Given the description of an element on the screen output the (x, y) to click on. 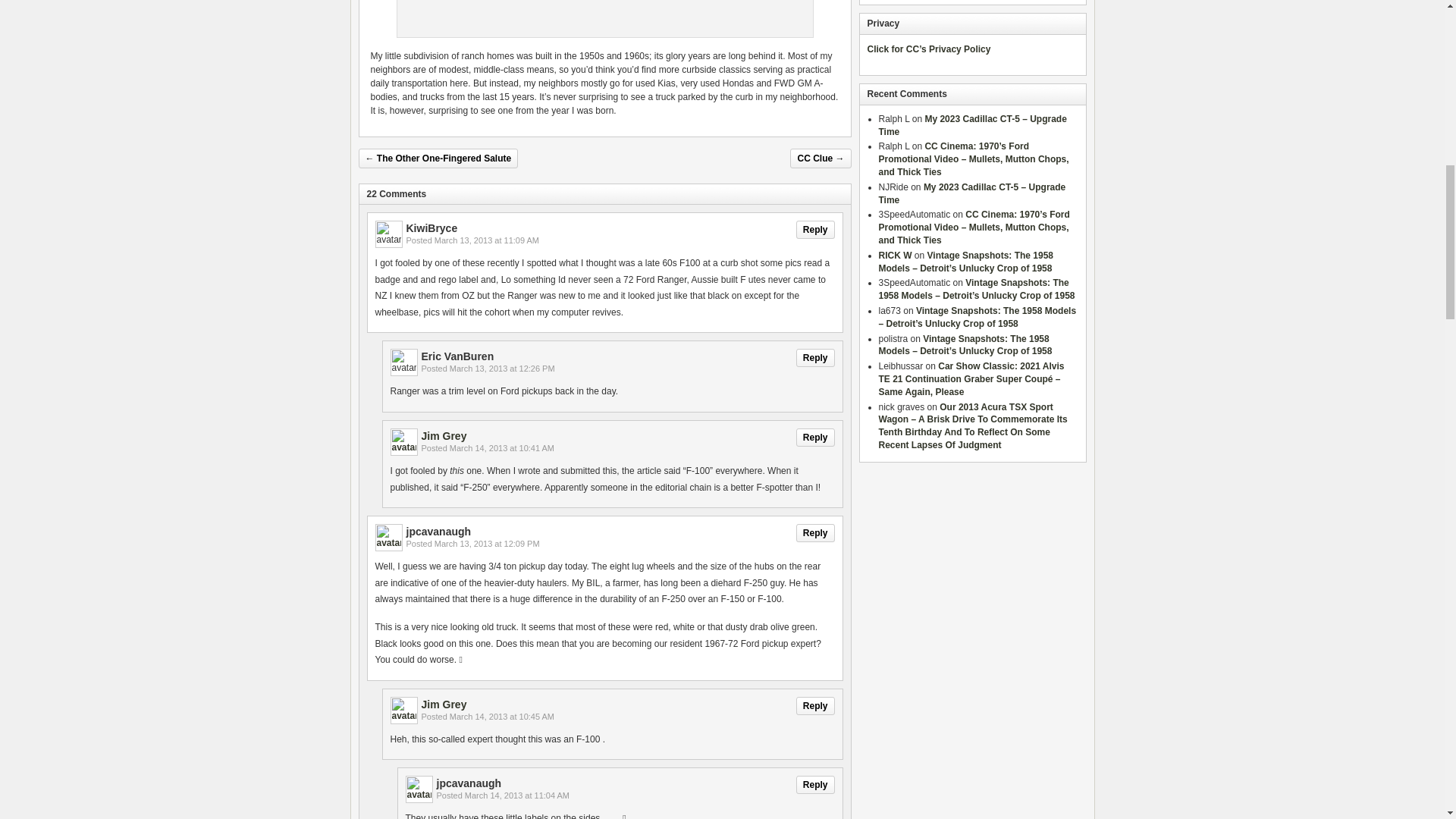
2013-03-14T10:41:12-07:00 (501, 447)
2013-03-13T12:09:29-07:00 (486, 542)
2013-03-14T10:45:37-07:00 (501, 716)
2013-03-13T11:09:19-07:00 (485, 239)
2013-03-13T12:26:25-07:00 (501, 368)
